Given the description of an element on the screen output the (x, y) to click on. 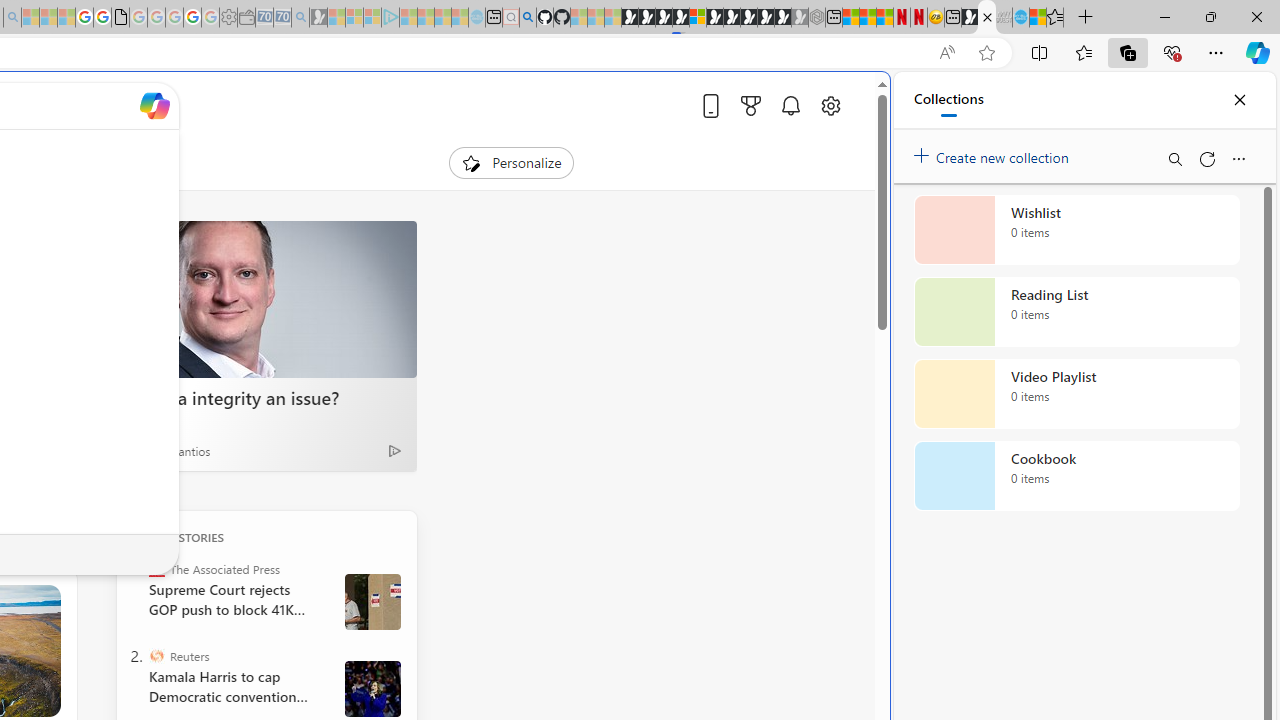
Create new collection (994, 153)
Close split screen (844, 102)
Cookbook collection, 0 items (1076, 475)
github - Search (527, 17)
Wishlist collection, 0 items (1076, 229)
Reading List collection, 0 items (1076, 312)
